Given the description of an element on the screen output the (x, y) to click on. 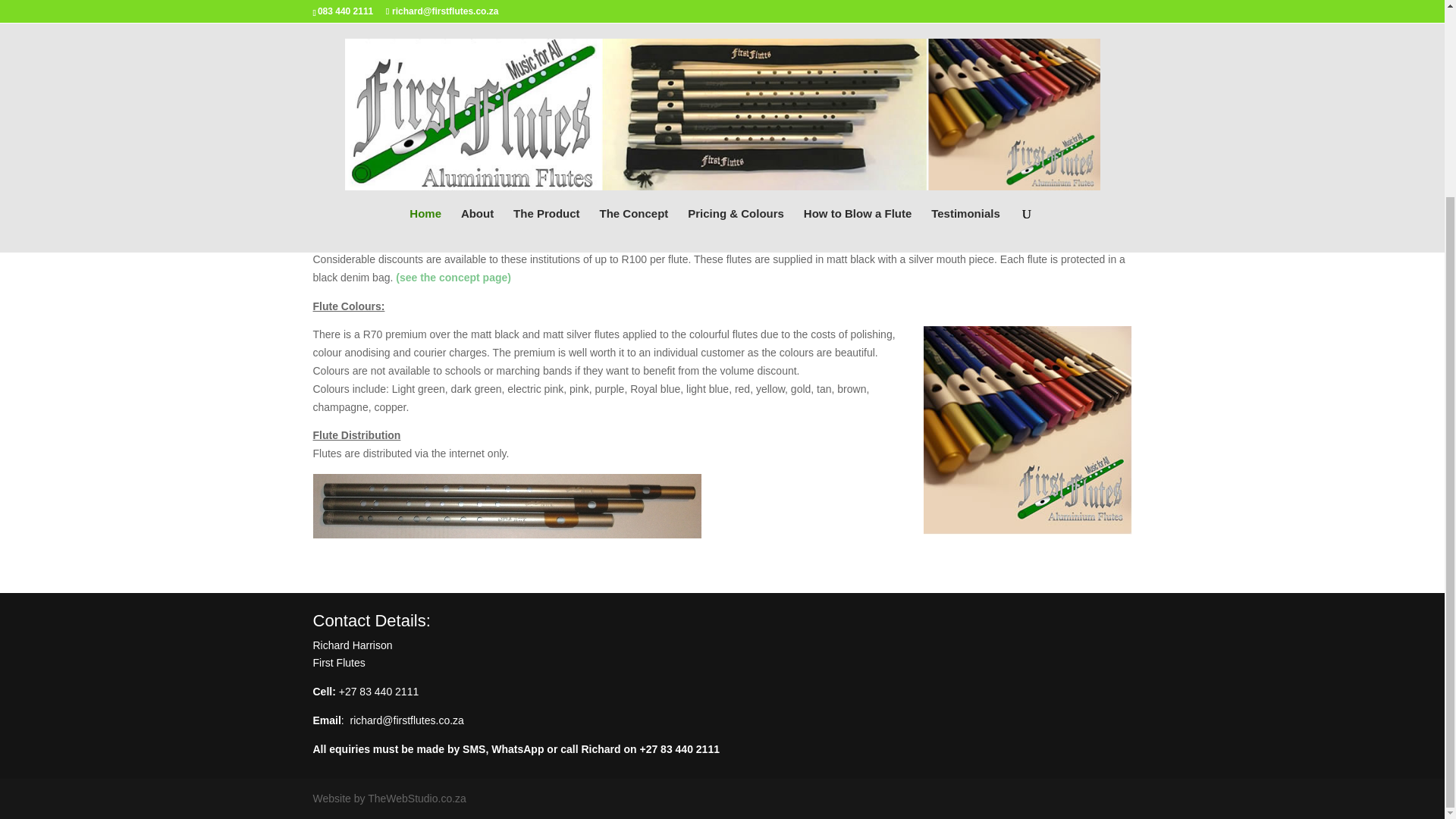
How to Blow a Flute (857, 1)
The Concept (633, 1)
Testimonials (965, 1)
Home (425, 1)
The Product (546, 1)
About (477, 1)
